Given the description of an element on the screen output the (x, y) to click on. 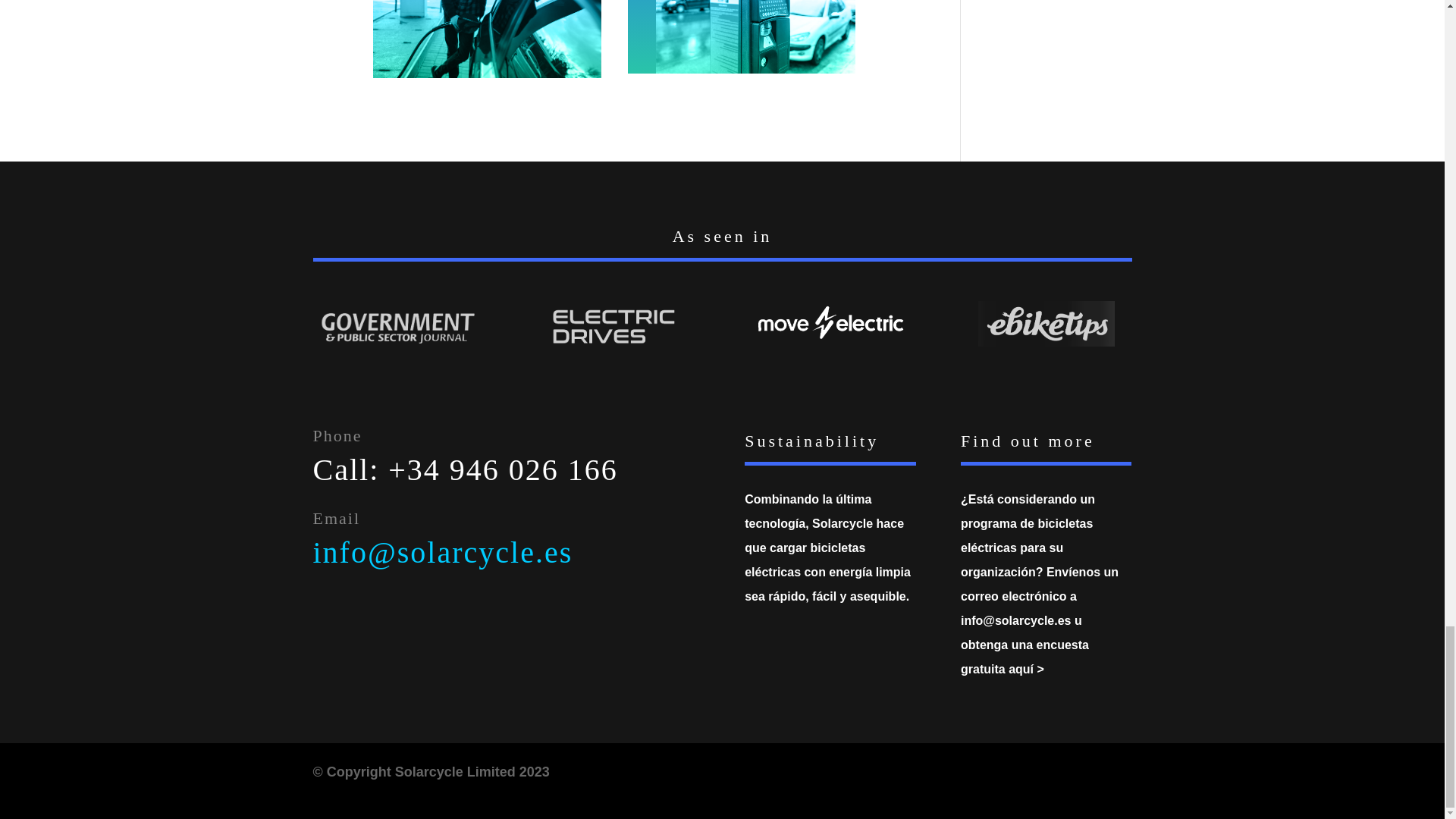
Ebike Tips - Road.cc (1046, 323)
Move Electric (830, 323)
Electric Drives  (614, 327)
Gov and Public Sector Journal (398, 327)
